Given the description of an element on the screen output the (x, y) to click on. 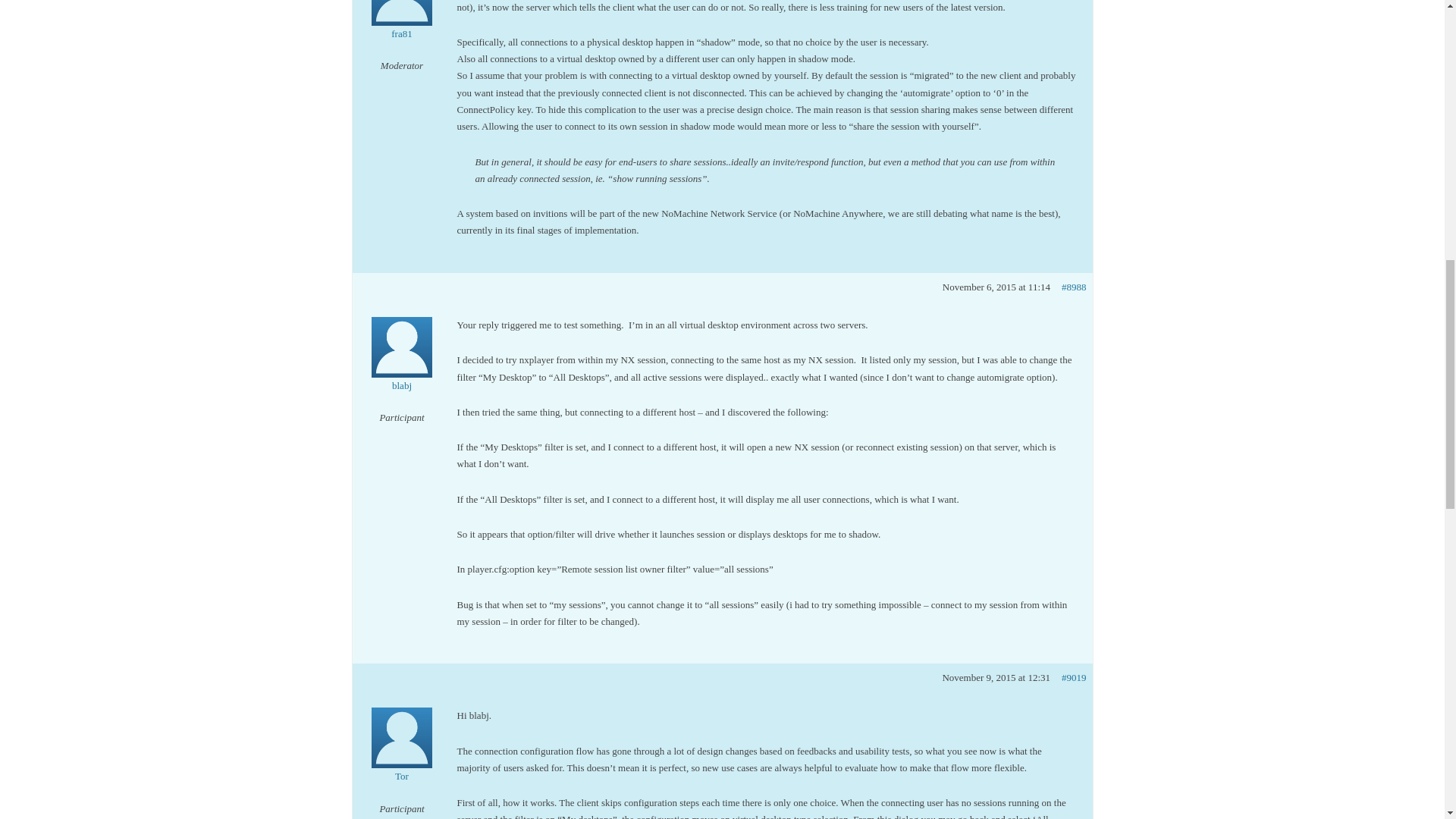
View fra81's profile (401, 21)
View blabj's profile (401, 364)
View Tor's profile (401, 755)
